Given the description of an element on the screen output the (x, y) to click on. 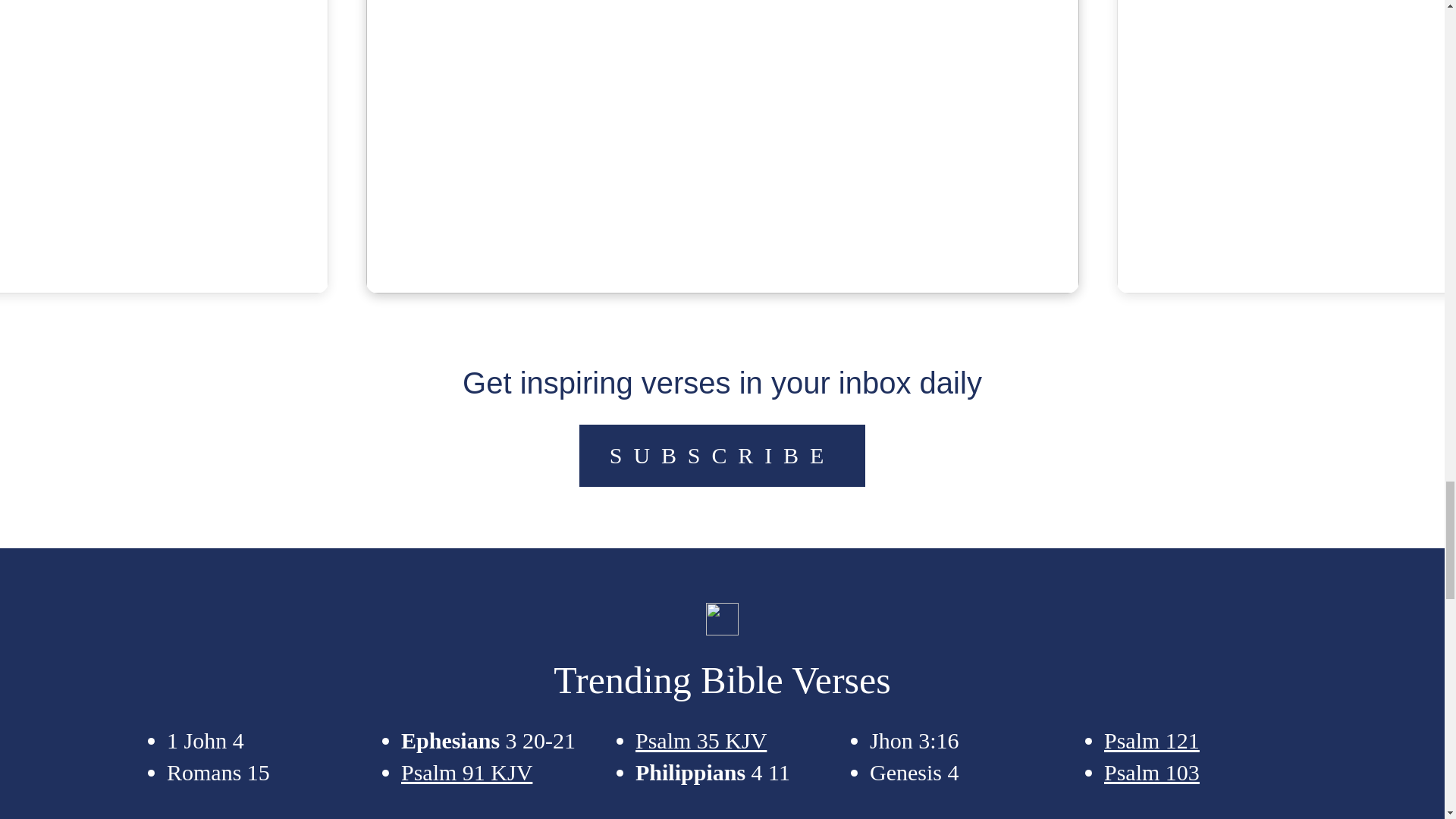
Psalm 91 KJV (466, 772)
Psalm 35 KJV (700, 740)
SUBSCRIBE (722, 454)
Psalm 103 (1151, 772)
Psalm 121 (1151, 740)
Prayers for protection (722, 88)
